Given the description of an element on the screen output the (x, y) to click on. 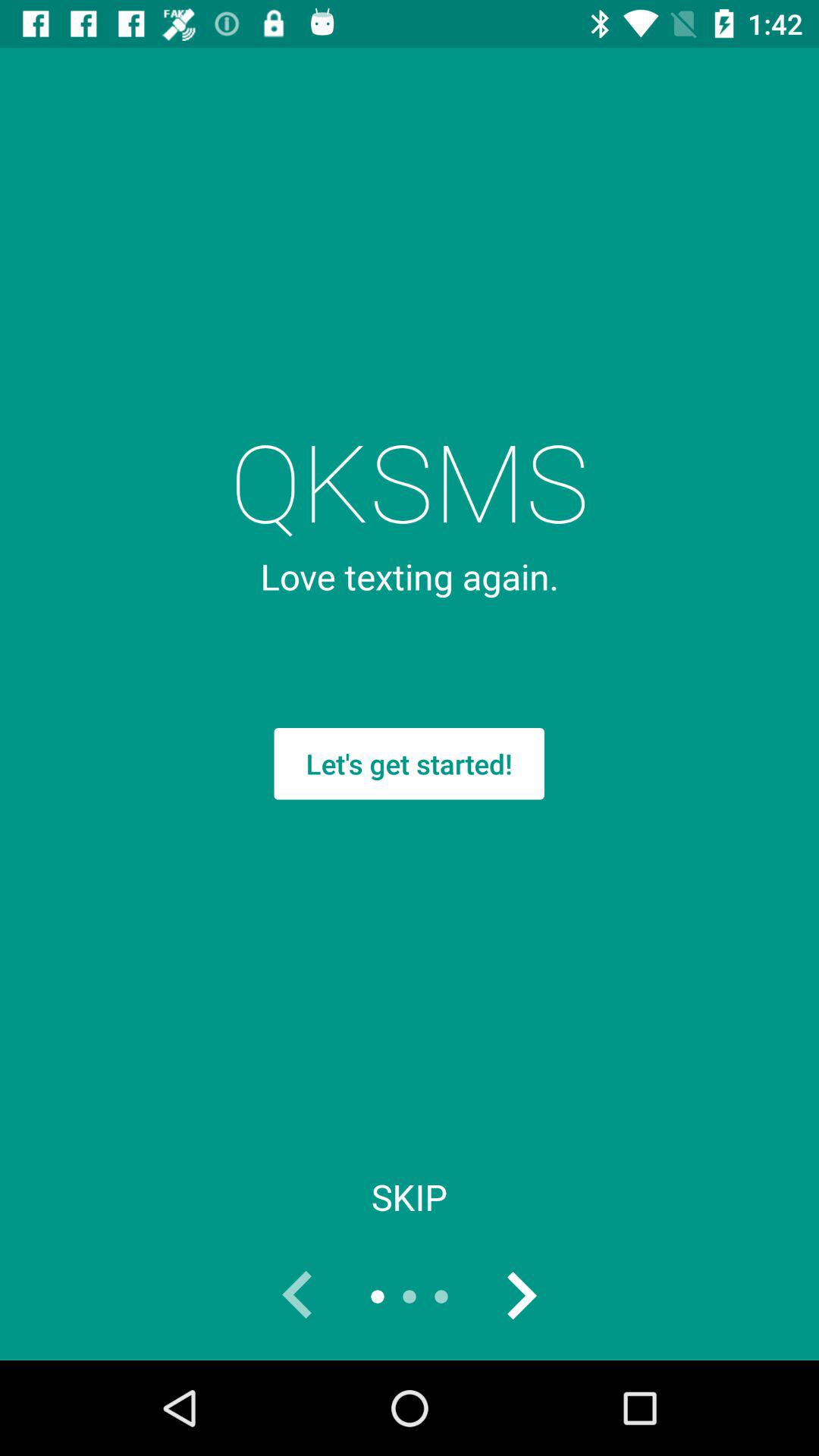
select icon below the let s get item (409, 1197)
